Given the description of an element on the screen output the (x, y) to click on. 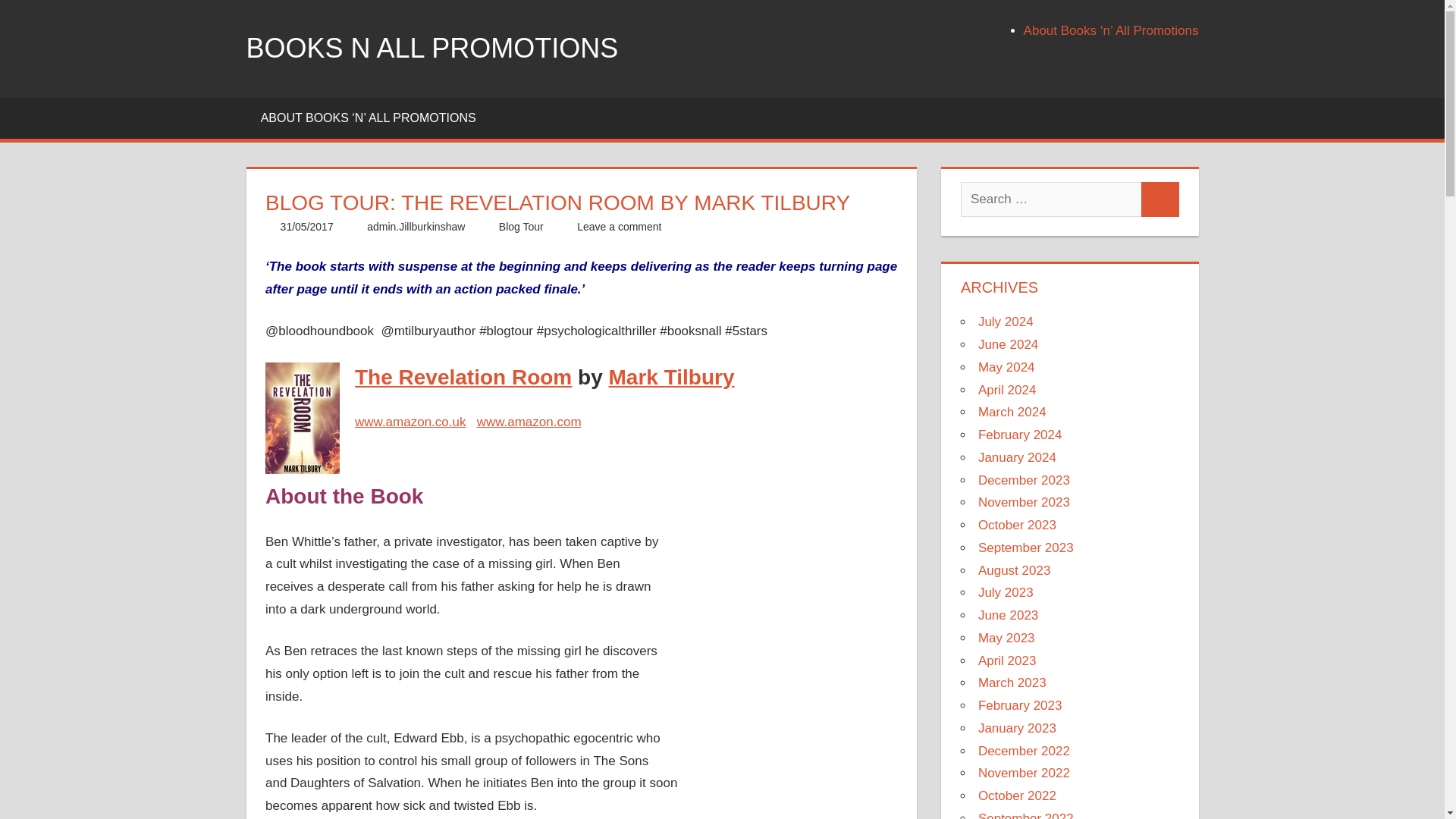
BOOKS N ALL PROMOTIONS (431, 47)
04:44 (307, 226)
www.amazon.com (528, 421)
Search (1160, 199)
June 2024 (1008, 344)
www.amazon.co.uk (410, 421)
Mark Tilbury (670, 377)
Search for: (1050, 199)
View all posts by admin.Jillburkinshaw (415, 226)
May 2024 (1006, 367)
July 2024 (1005, 321)
admin.Jillburkinshaw (415, 226)
Blog Tour (521, 226)
The Revelation Room (463, 377)
Leave a comment (618, 226)
